Given the description of an element on the screen output the (x, y) to click on. 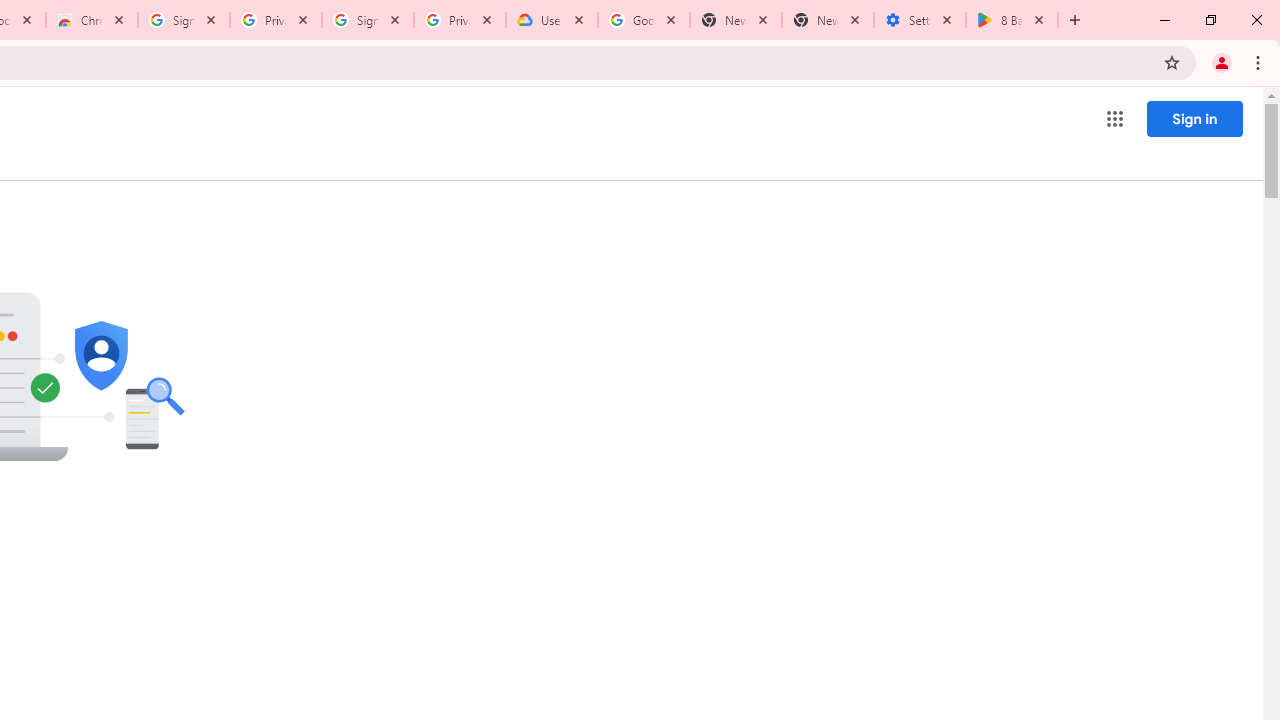
8 Ball Pool - Apps on Google Play (1012, 20)
Sign in - Google Accounts (367, 20)
Chrome Web Store - Color themes by Chrome (92, 20)
Settings - System (920, 20)
